Given the description of an element on the screen output the (x, y) to click on. 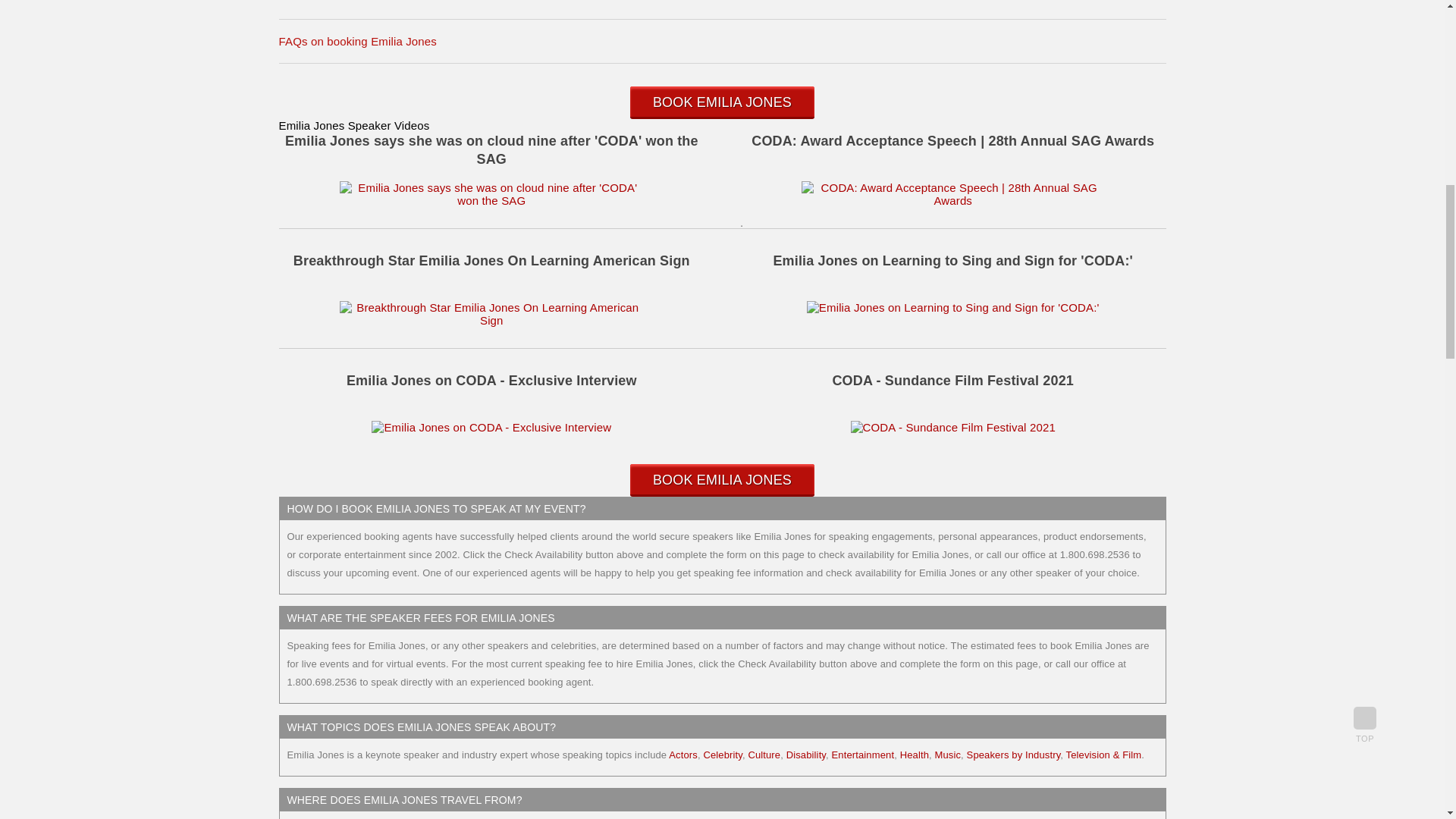
Emilia Jones on CODA - Exclusive Interview  (491, 427)
CODA - Sundance Film Festival 2021  (952, 427)
Breakthrough Star Emilia Jones On Learning American Sign (491, 319)
Emilia Jones on Learning to Sing and Sign for 'CODA:'  (952, 307)
